Given the description of an element on the screen output the (x, y) to click on. 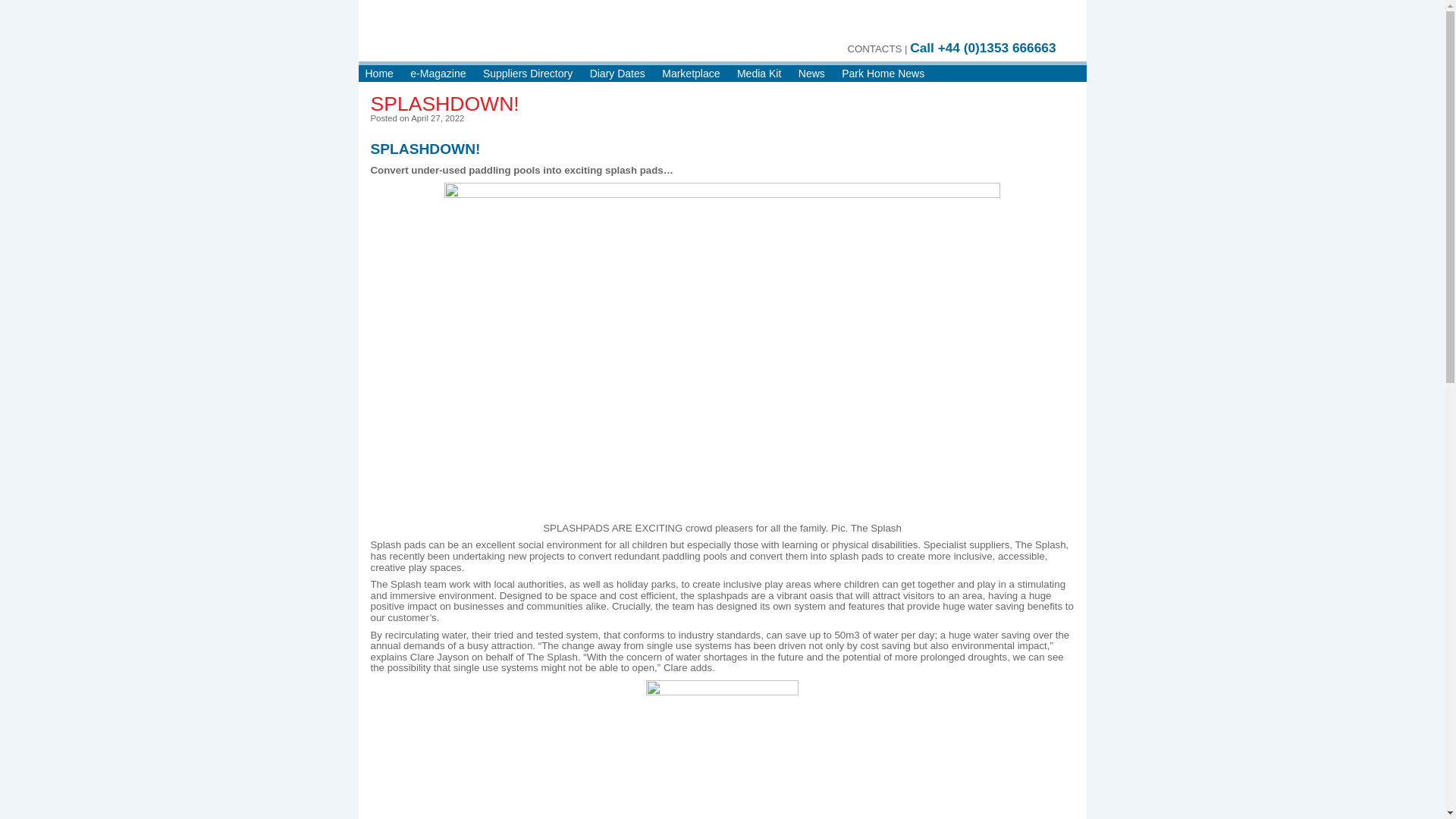
Holiday Park Scene Magazine (538, 38)
e-Magazine (437, 76)
Print (934, 24)
Holiday Park Scene Magazine (538, 38)
Diary Dates (616, 76)
Park Home News (882, 76)
Media Kit (758, 76)
Home (379, 76)
Suppliers Directory (527, 76)
Increase Text Size (963, 24)
News (811, 76)
CONTACTS (874, 51)
Marketplace (690, 76)
